Given the description of an element on the screen output the (x, y) to click on. 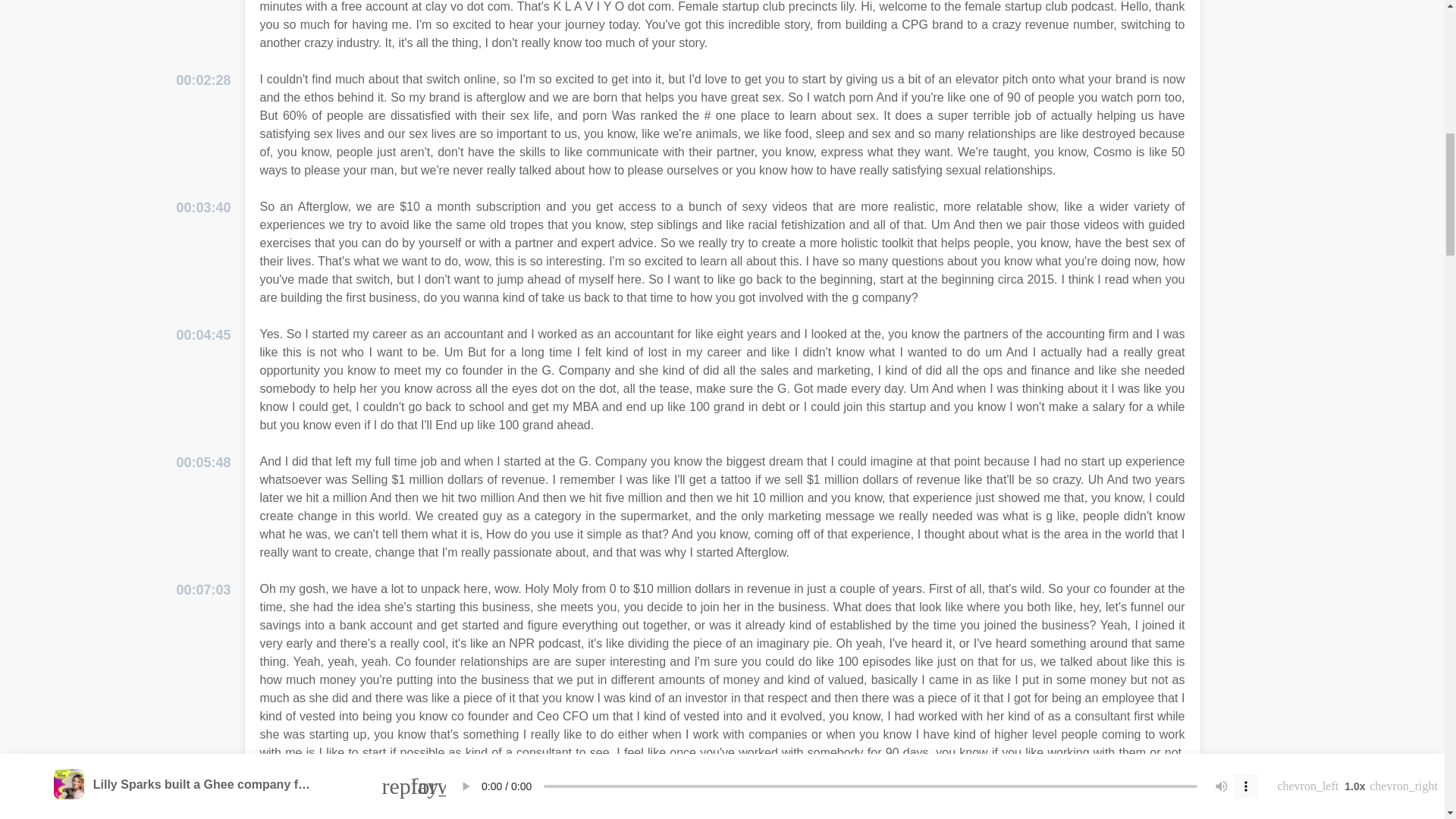
00:05:48 (203, 462)
00:03:40 (203, 208)
00:02:28 (203, 80)
00:07:03 (203, 589)
00:09:00 (203, 817)
00:04:45 (203, 335)
